Given the description of an element on the screen output the (x, y) to click on. 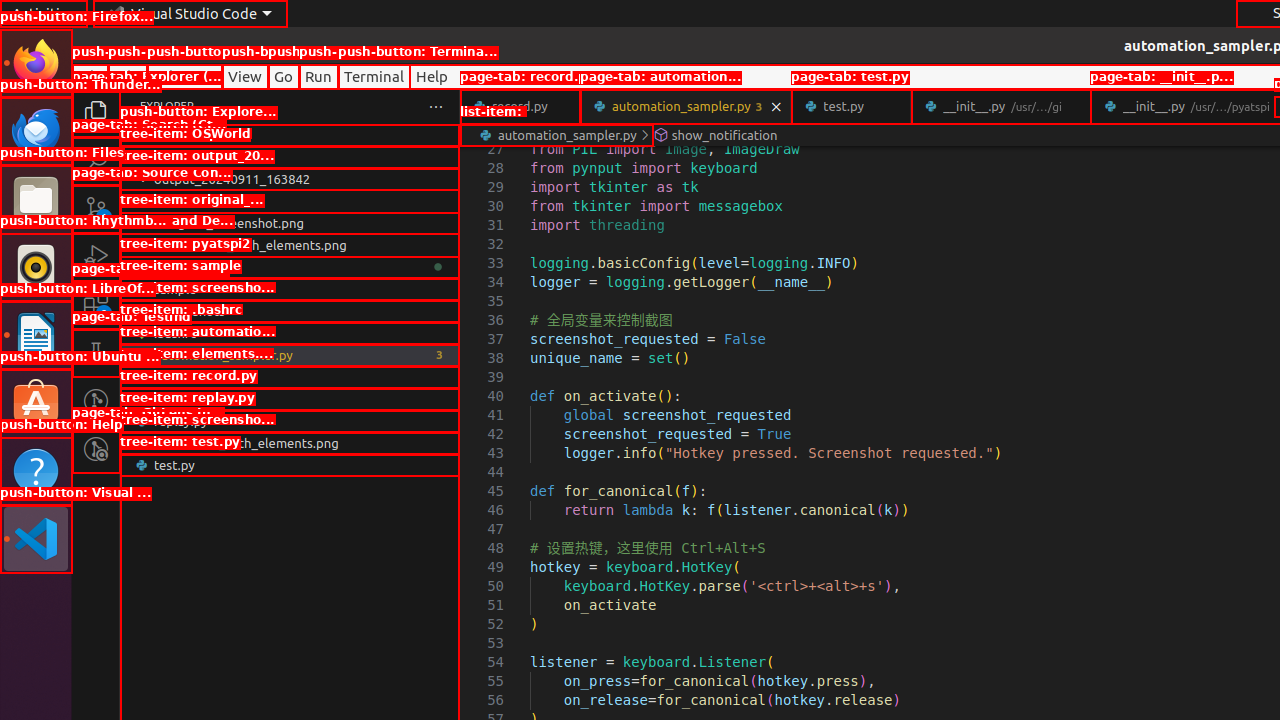
Testing Element type: page-tab (96, 353)
sample Element type: tree-item (289, 289)
Terminal Element type: push-button (374, 76)
